Given the description of an element on the screen output the (x, y) to click on. 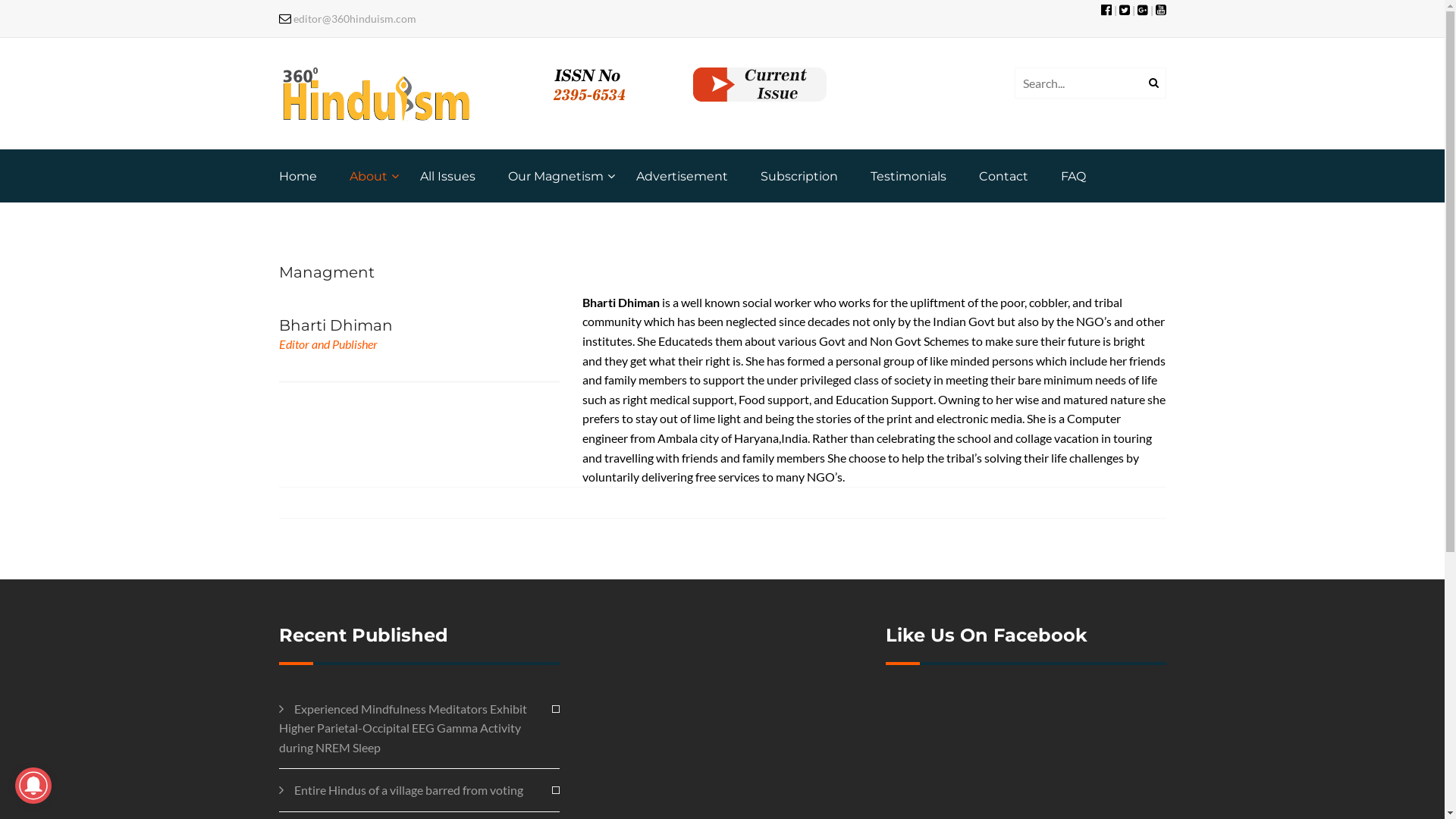
Contact Element type: text (1002, 176)
Cover Story Element type: text (637, 229)
About Element type: text (367, 176)
Special Report Element type: text (643, 272)
Search Element type: text (1150, 83)
Our Magnetism Element type: text (555, 176)
All Issues Element type: text (447, 176)
Subscription Element type: text (798, 176)
Home Element type: text (297, 176)
Great Indian Irony Element type: text (652, 442)
Testimonials Element type: text (908, 176)
Ayur Plant Element type: text (634, 399)
Knowledge Capsule Element type: text (655, 314)
Circulation Element type: text (478, 314)
About us Element type: text (472, 229)
Entire Hindus of a village barred from voting Element type: text (401, 789)
Managment Element type: text (479, 272)
Advertisement Element type: text (681, 176)
FAQ Element type: text (1072, 176)
